Given the description of an element on the screen output the (x, y) to click on. 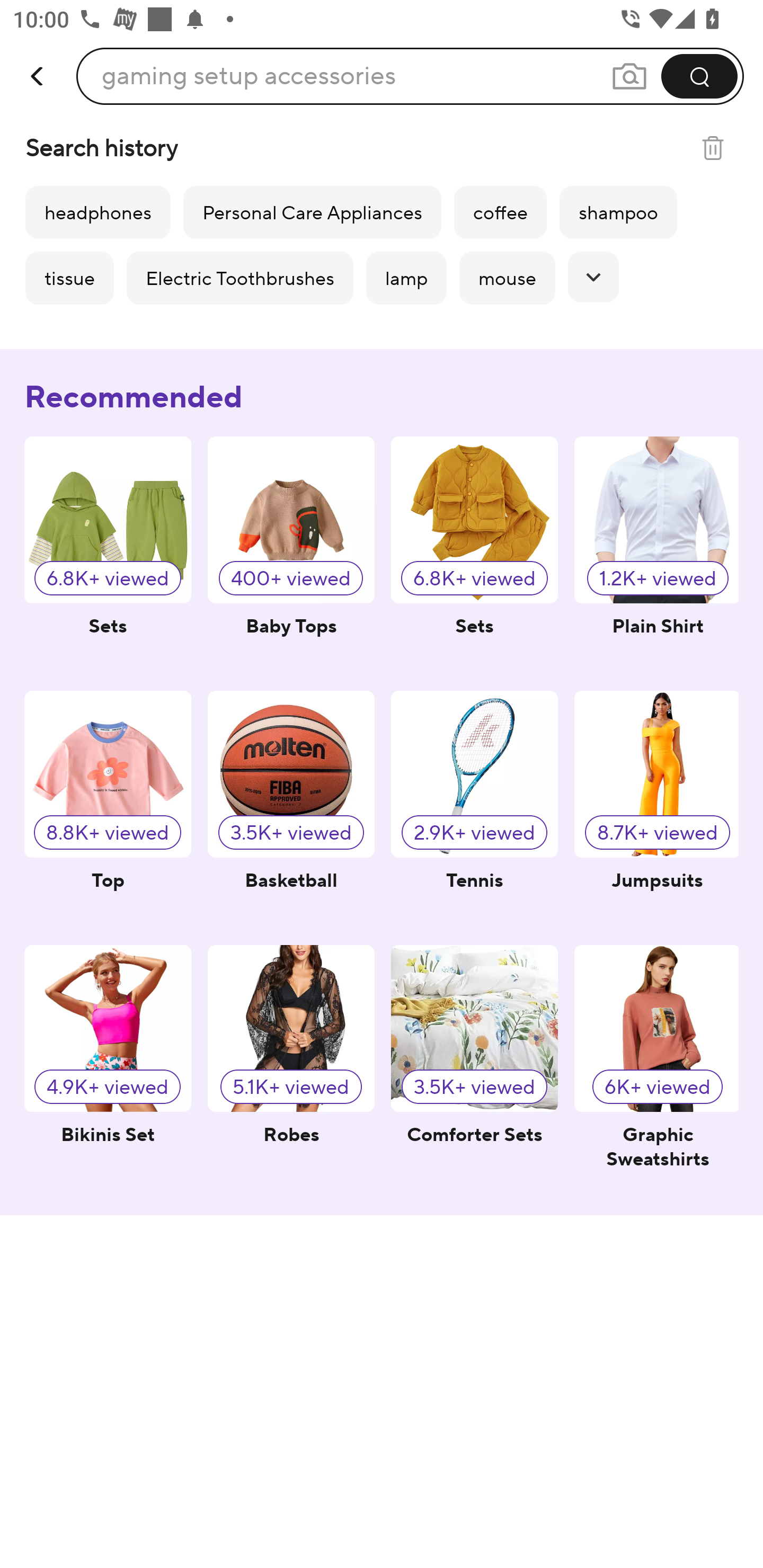
gaming setup accessories (409, 76)
gaming setup accessories (248, 76)
headphones (97, 212)
Personal Care Appliances (312, 212)
coffee (500, 212)
shampoo (618, 212)
tissue (69, 277)
Electric Toothbrushes (239, 277)
lamp (406, 277)
mouse (507, 277)
6.8K+ viewed Sets (107, 554)
400+ viewed Baby Tops (290, 554)
6.8K+ viewed Sets (473, 554)
1.2K+ viewed Plain Shirt (656, 554)
8.8K+ viewed Top (107, 809)
3.5K+ viewed Basketball (290, 809)
2.9K+ viewed Tennis (473, 809)
8.7K+ viewed Jumpsuits (656, 809)
4.9K+ viewed Bikinis Set (107, 1063)
5.1K+ viewed Robes (290, 1063)
3.5K+ viewed Comforter Sets (473, 1063)
6K+ viewed Graphic Sweatshirts (656, 1063)
